Given the description of an element on the screen output the (x, y) to click on. 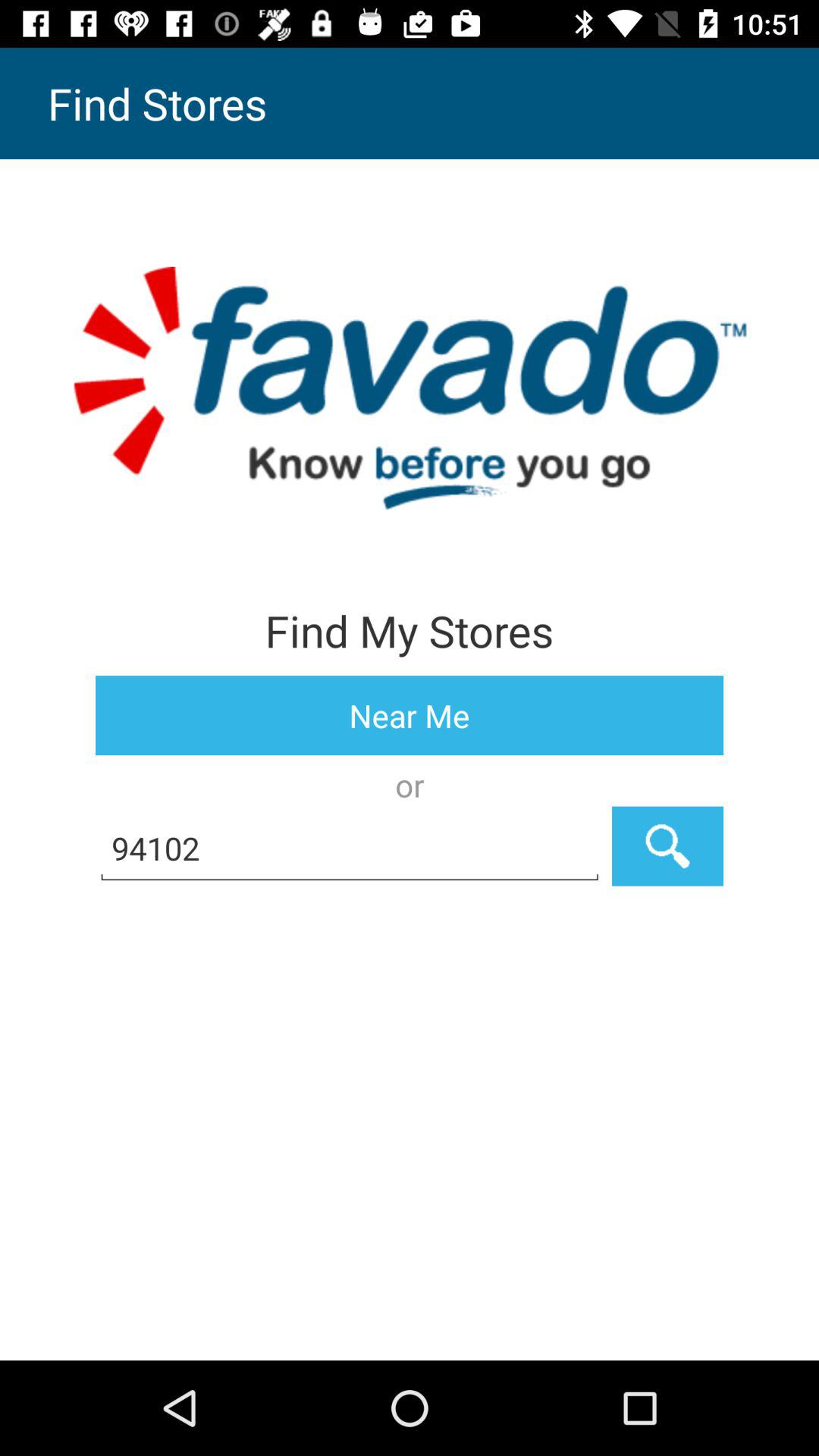
swipe to the near me icon (409, 715)
